Given the description of an element on the screen output the (x, y) to click on. 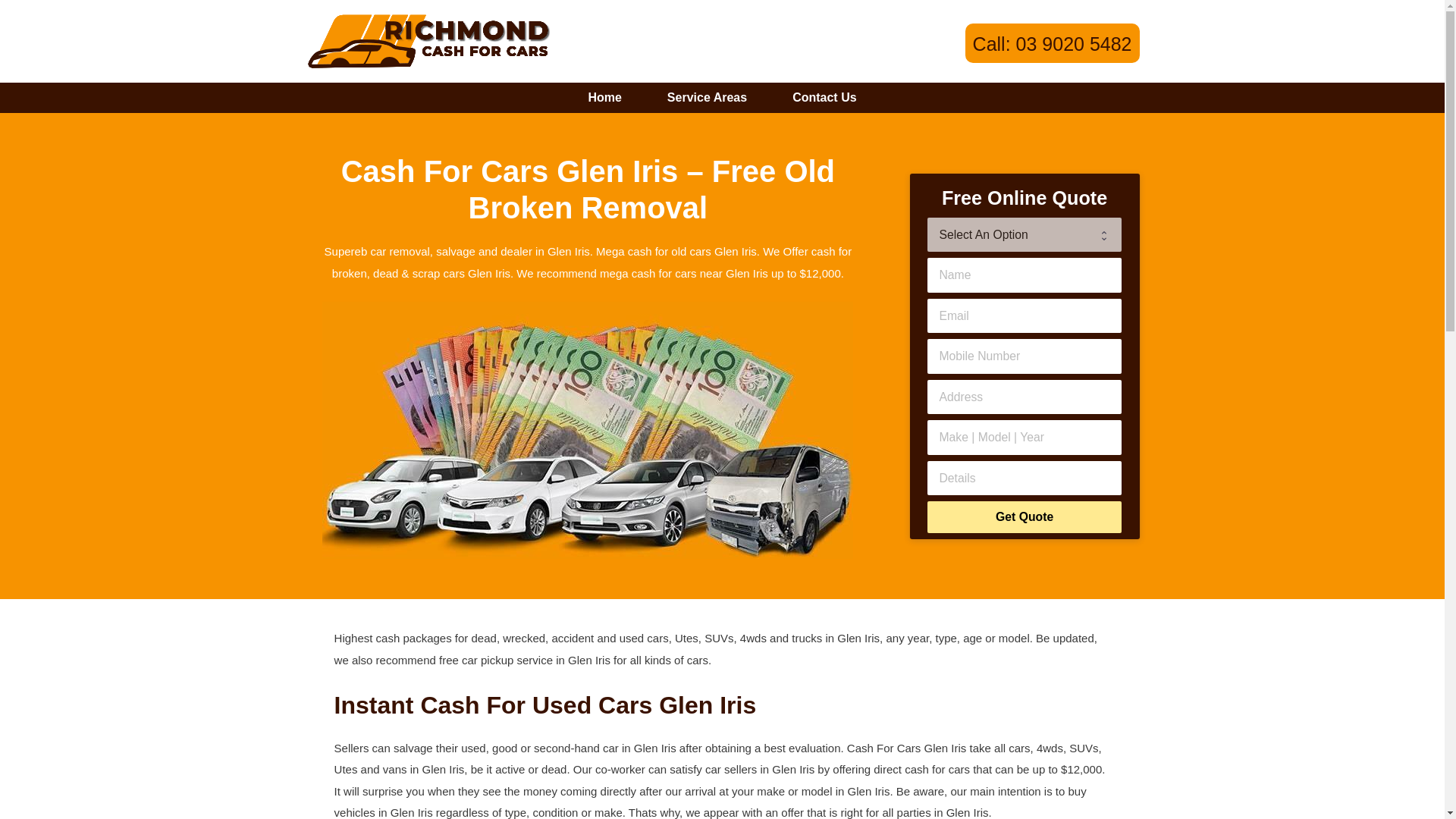
Home (603, 97)
Cash For Cars Richmond (427, 41)
Cash For Cars Richmond (427, 39)
Contact Us (824, 97)
Service Areas (707, 97)
Call: 03 9020 5482 (1052, 43)
Get Quote (1024, 517)
